Given the description of an element on the screen output the (x, y) to click on. 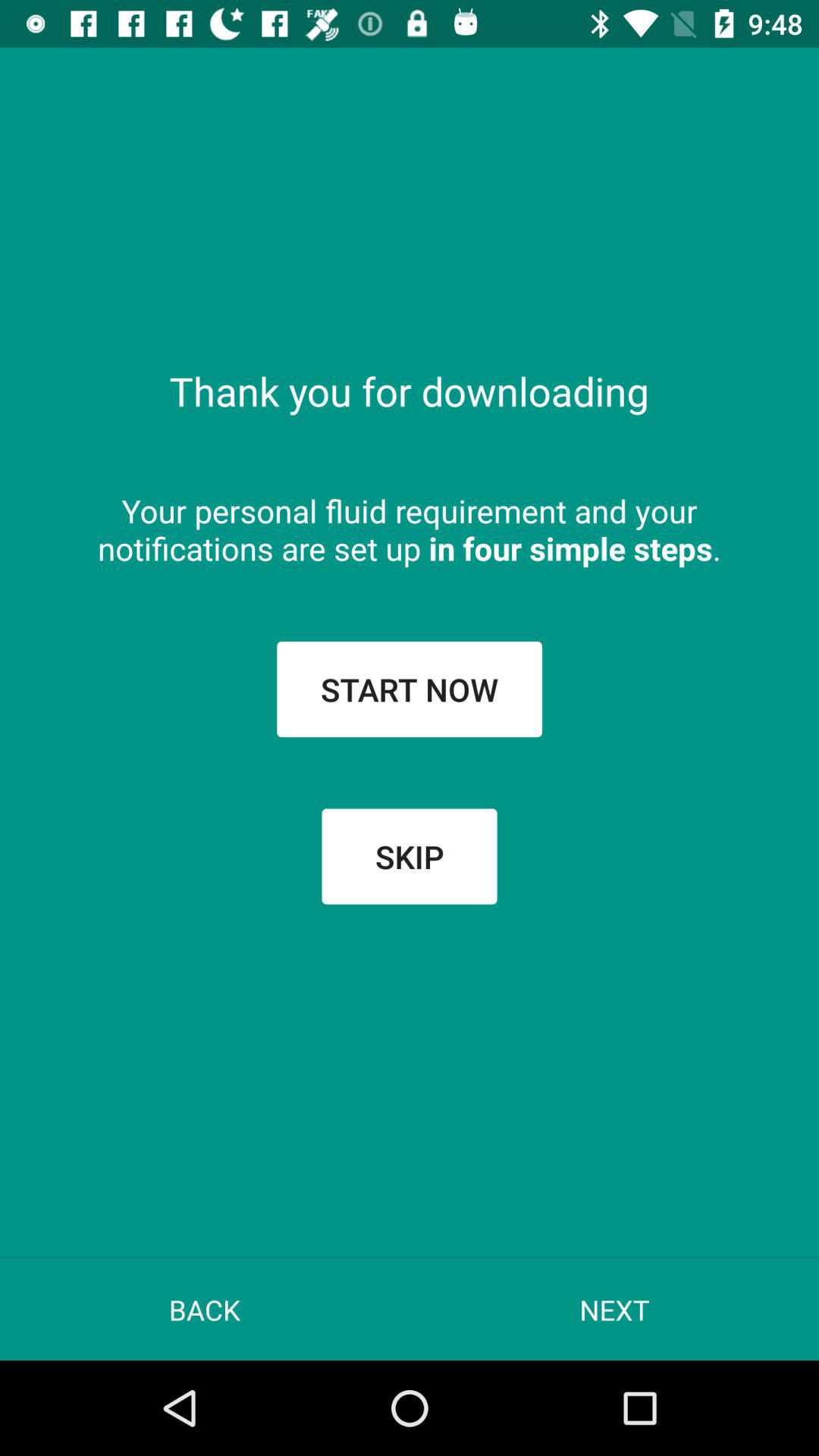
turn off app next to the back (614, 1309)
